Given the description of an element on the screen output the (x, y) to click on. 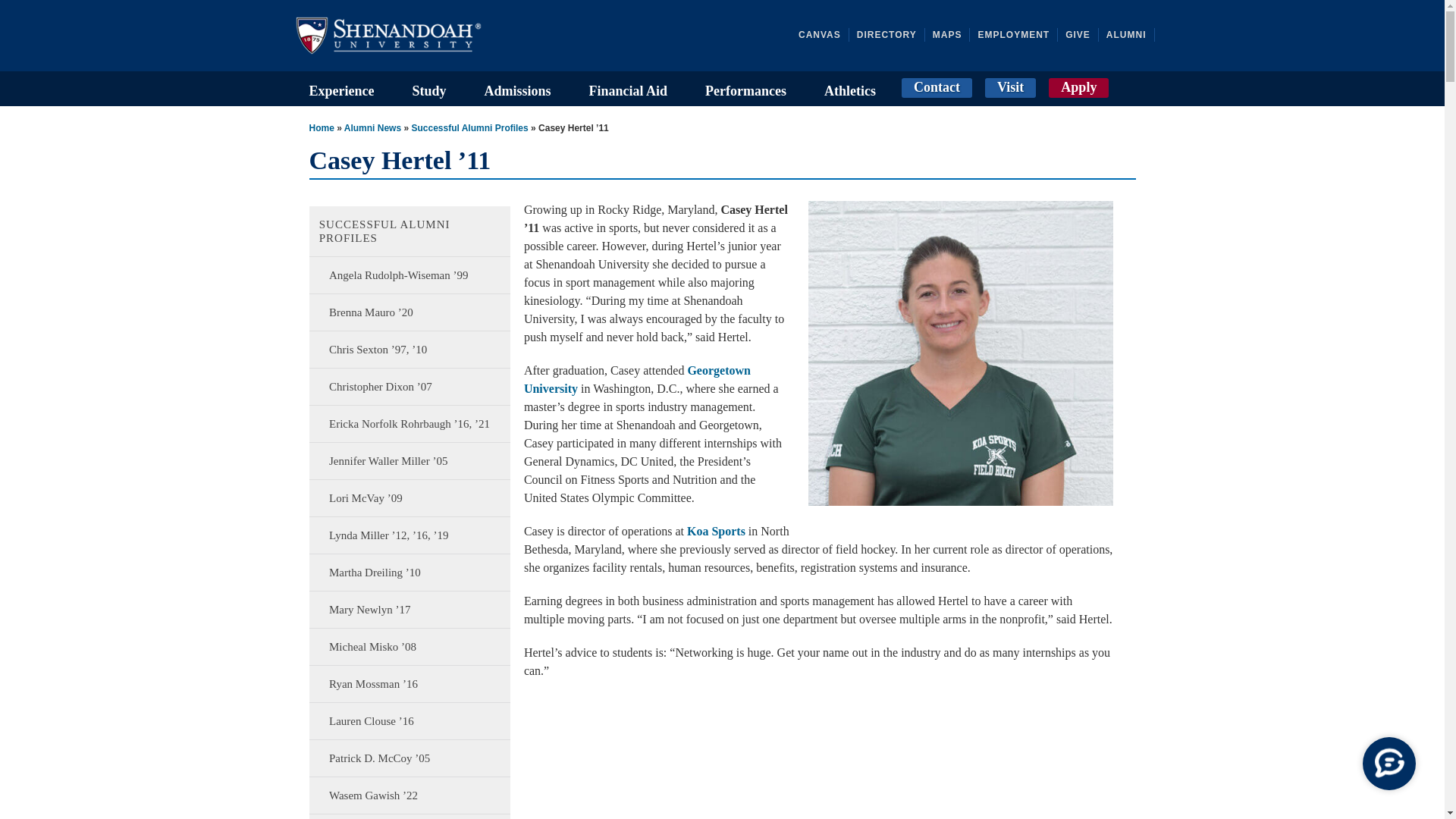
Experience (341, 88)
Study (428, 88)
EMPLOYMENT (1017, 34)
GIVE (1082, 34)
CANVAS (822, 34)
MAPS (952, 34)
SHENANDOAH UNIVERSITY (402, 35)
ALUMNI (1130, 34)
DIRECTORY (890, 34)
